Given the description of an element on the screen output the (x, y) to click on. 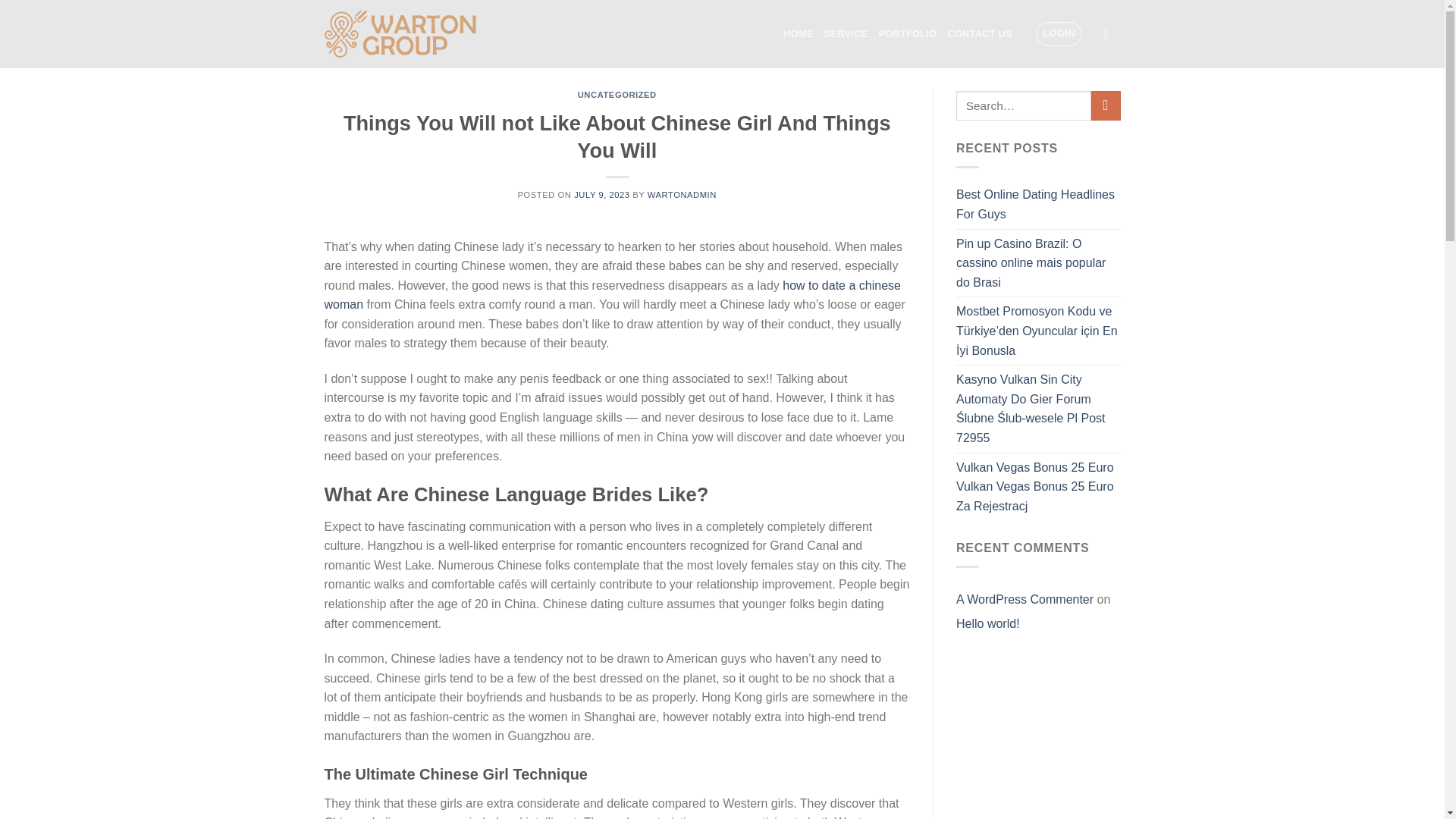
HOME (797, 33)
LOGIN (1058, 33)
UNCATEGORIZED (617, 94)
Warton Digital marketing - Just another WordPress site (400, 33)
how to date a chinese woman (612, 295)
SERVICE (845, 33)
WARTONADMIN (681, 194)
Pin up Casino Brazil: O cassino online mais popular do Brasi (1038, 263)
CONTACT US (979, 33)
Hello world! (988, 623)
